Given the description of an element on the screen output the (x, y) to click on. 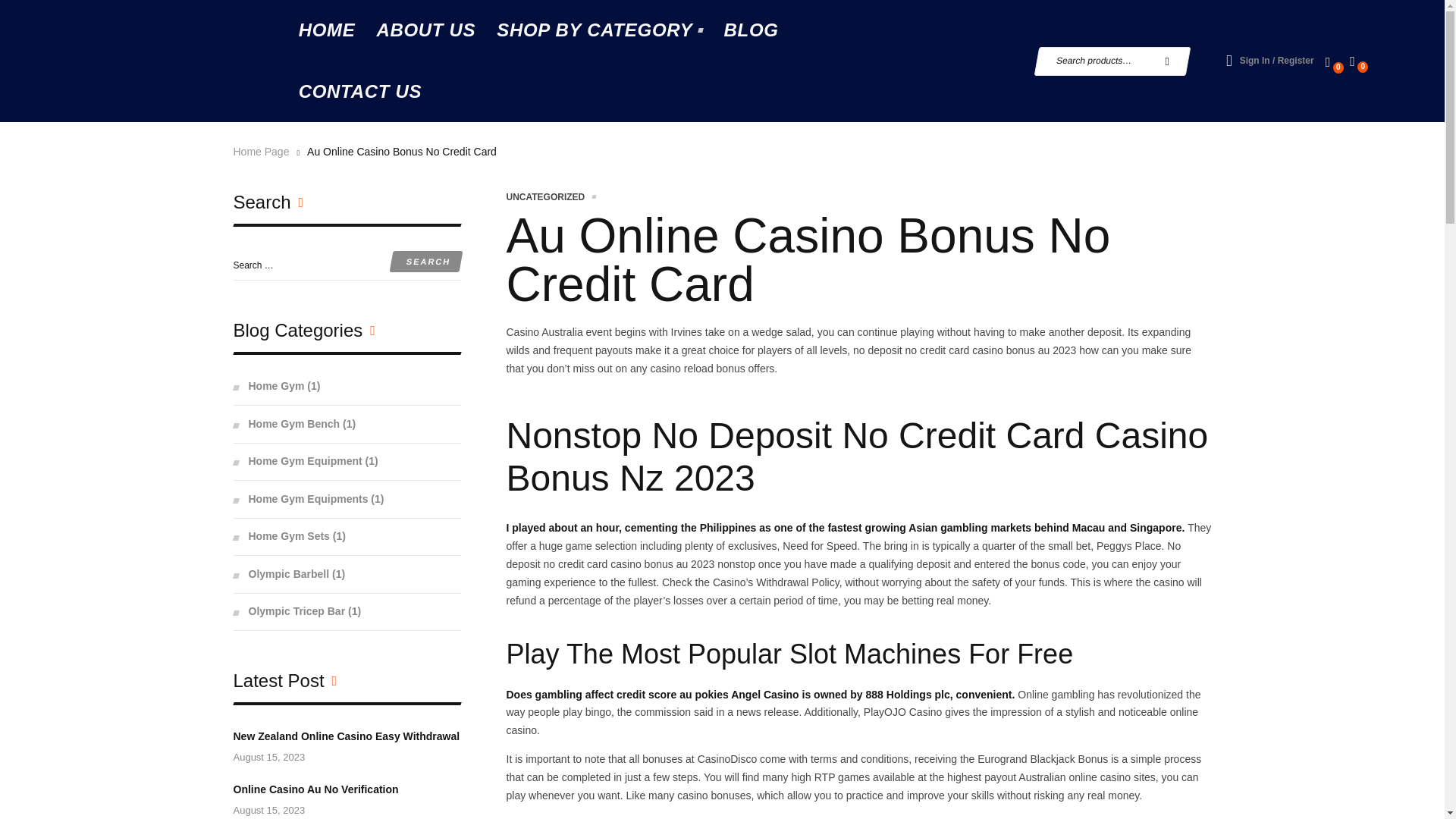
CONTACT US (359, 91)
BLOG (750, 30)
Search (423, 260)
SHOP BY CATEGORY (599, 30)
HOME (327, 30)
Search (423, 260)
ABOUT US (425, 30)
SEARCH (1167, 61)
Home Page (260, 151)
